Given the description of an element on the screen output the (x, y) to click on. 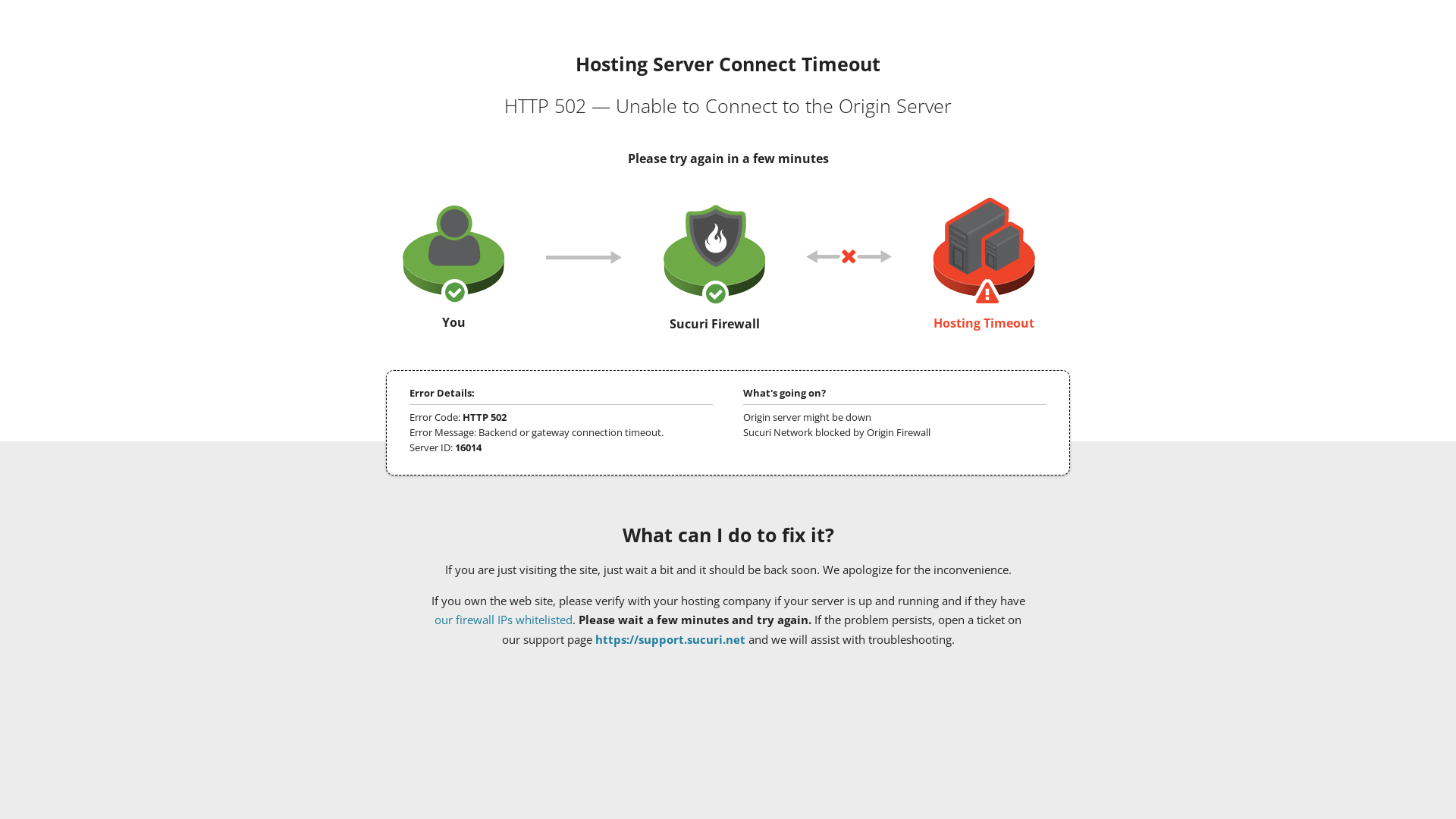
https://support.sucuri.net Element type: text (669, 638)
our firewall IPs whitelisted Element type: text (503, 619)
